Given the description of an element on the screen output the (x, y) to click on. 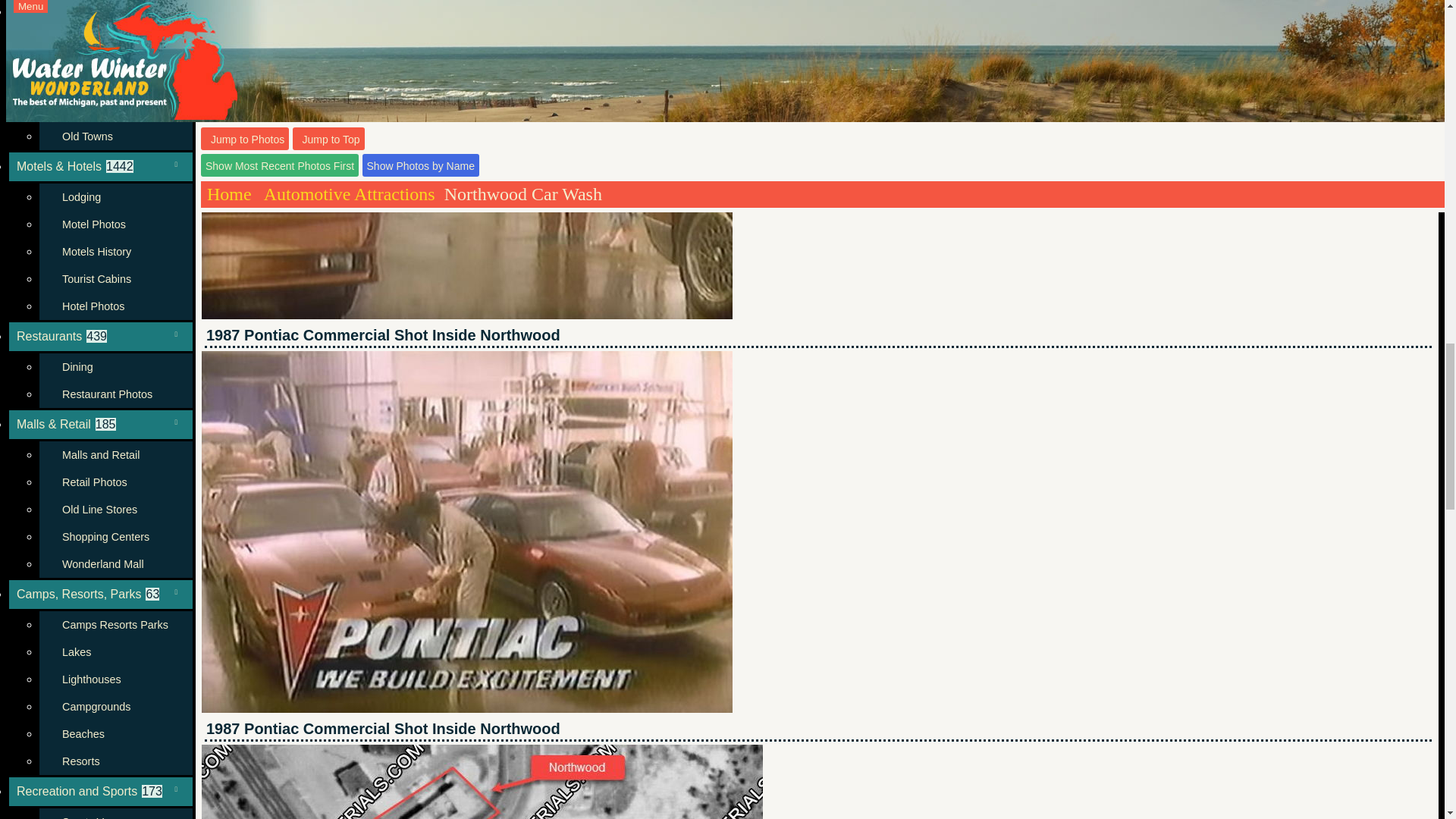
Northwood Car Wash - 1964 Aerial (482, 781)
